Given the description of an element on the screen output the (x, y) to click on. 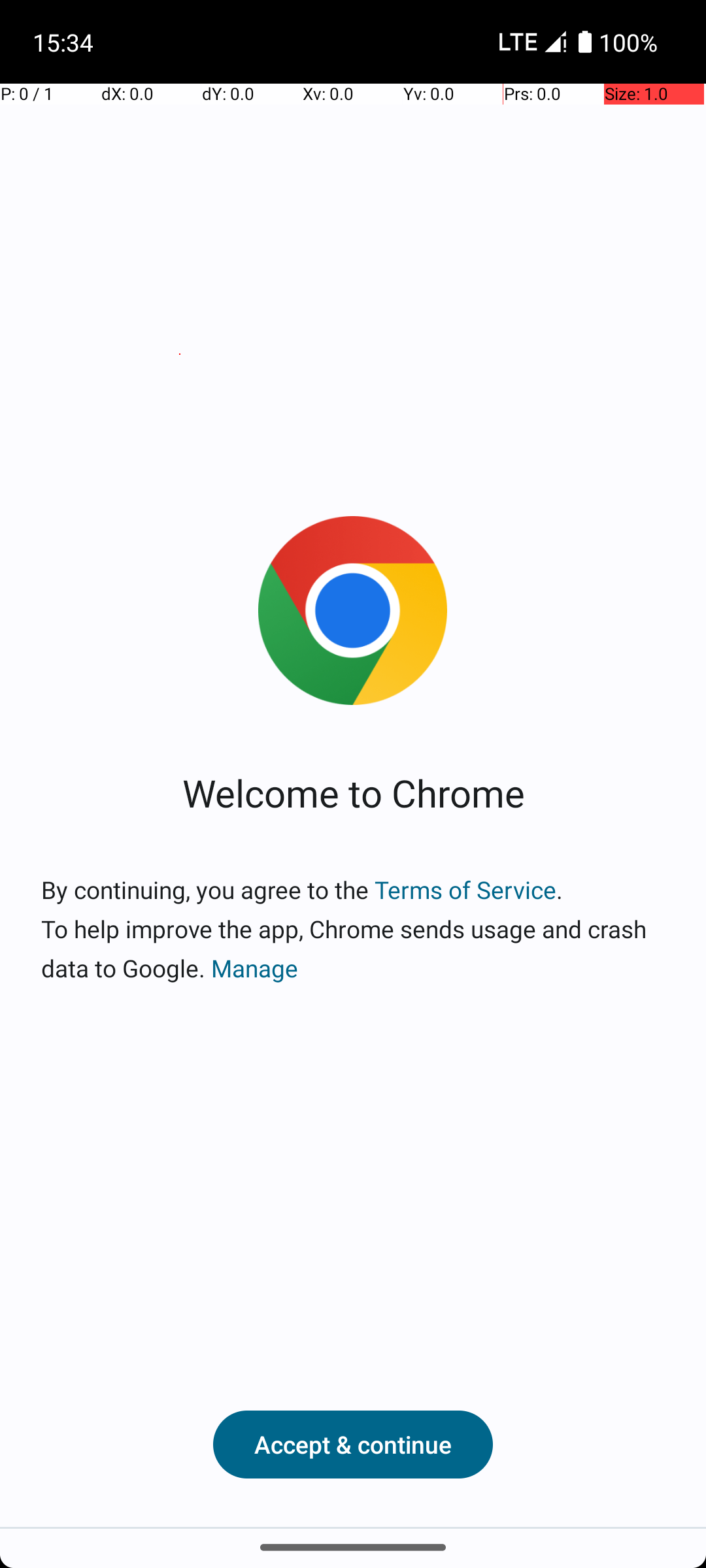
By continuing, you agree to the Terms of Service.
To help improve the app, Chrome sends usage and crash data to Google. Manage Element type: android.widget.TextView (352, 928)
